Given the description of an element on the screen output the (x, y) to click on. 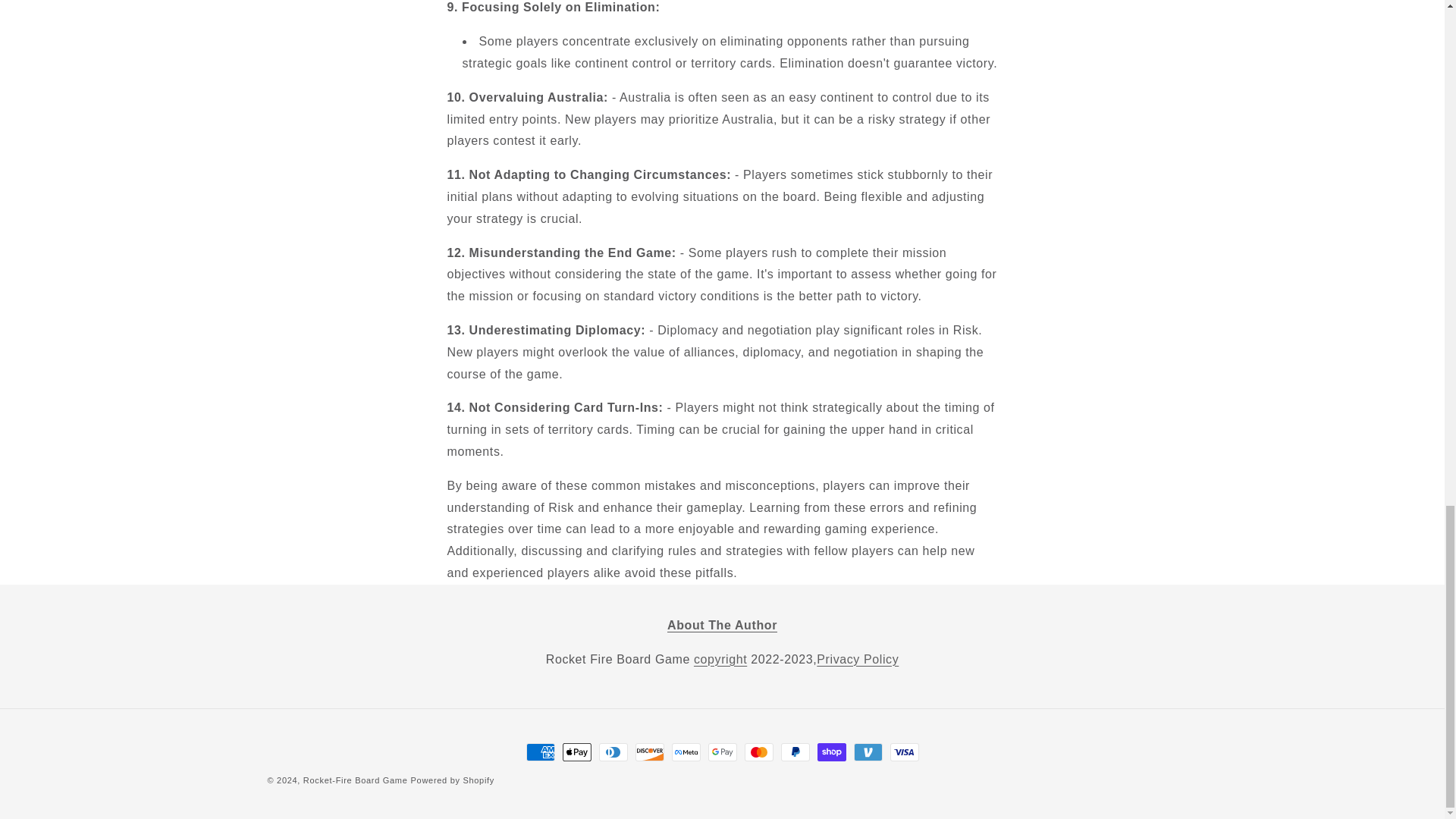
Powered by Shopify (452, 779)
Privacy Policy (857, 658)
About The Author (721, 625)
Rocket-Fire Board Game (354, 779)
Copyright, Your Privacy and User Agreement (857, 658)
About The Author (721, 625)
copyright (720, 658)
Copyright, Your Privacy and User Agreement (720, 658)
